Given the description of an element on the screen output the (x, y) to click on. 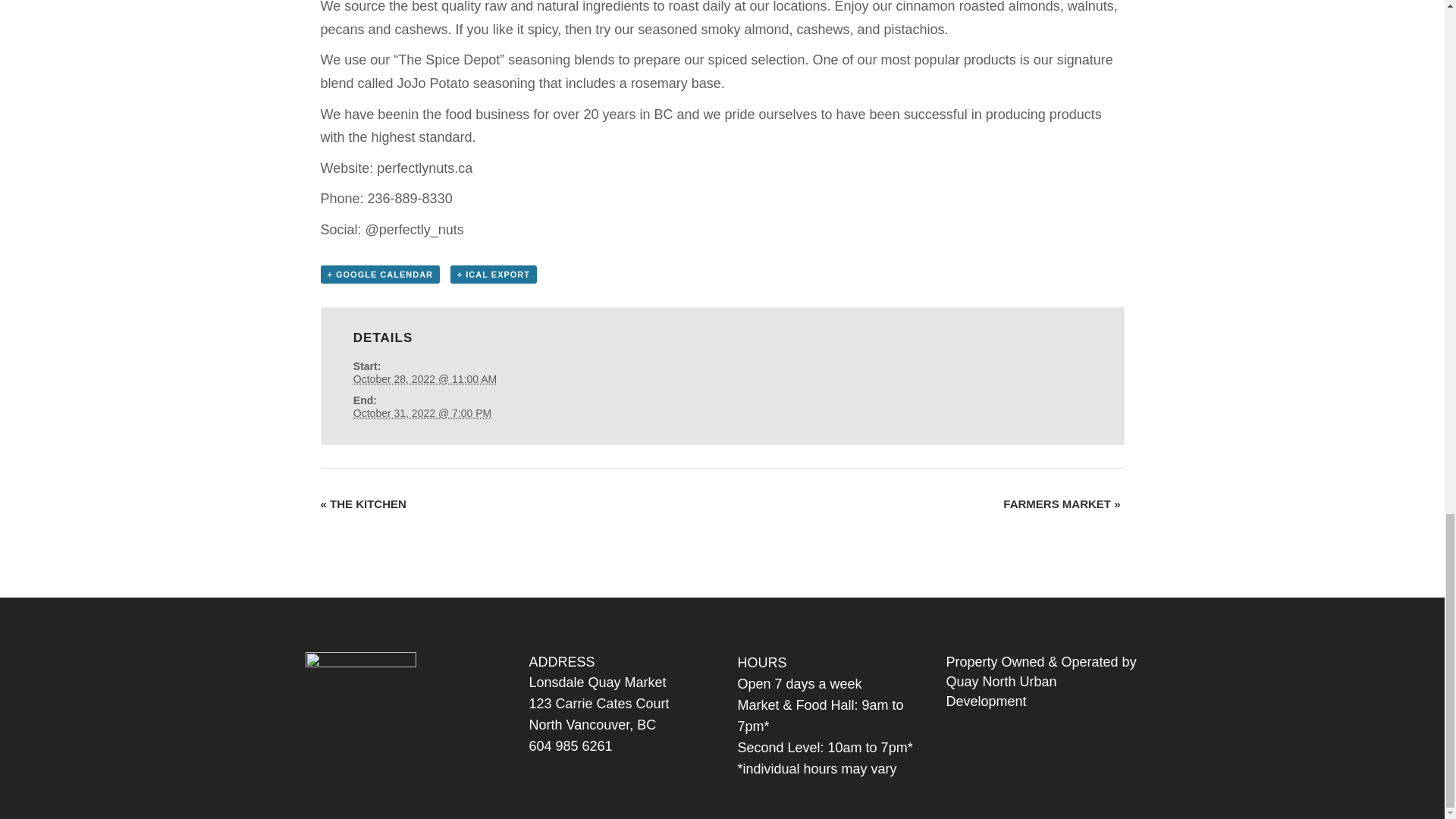
2022-10-28 (424, 378)
Add to Google Calendar (379, 274)
2022-10-31 (422, 413)
Download .ics file (493, 274)
